Given the description of an element on the screen output the (x, y) to click on. 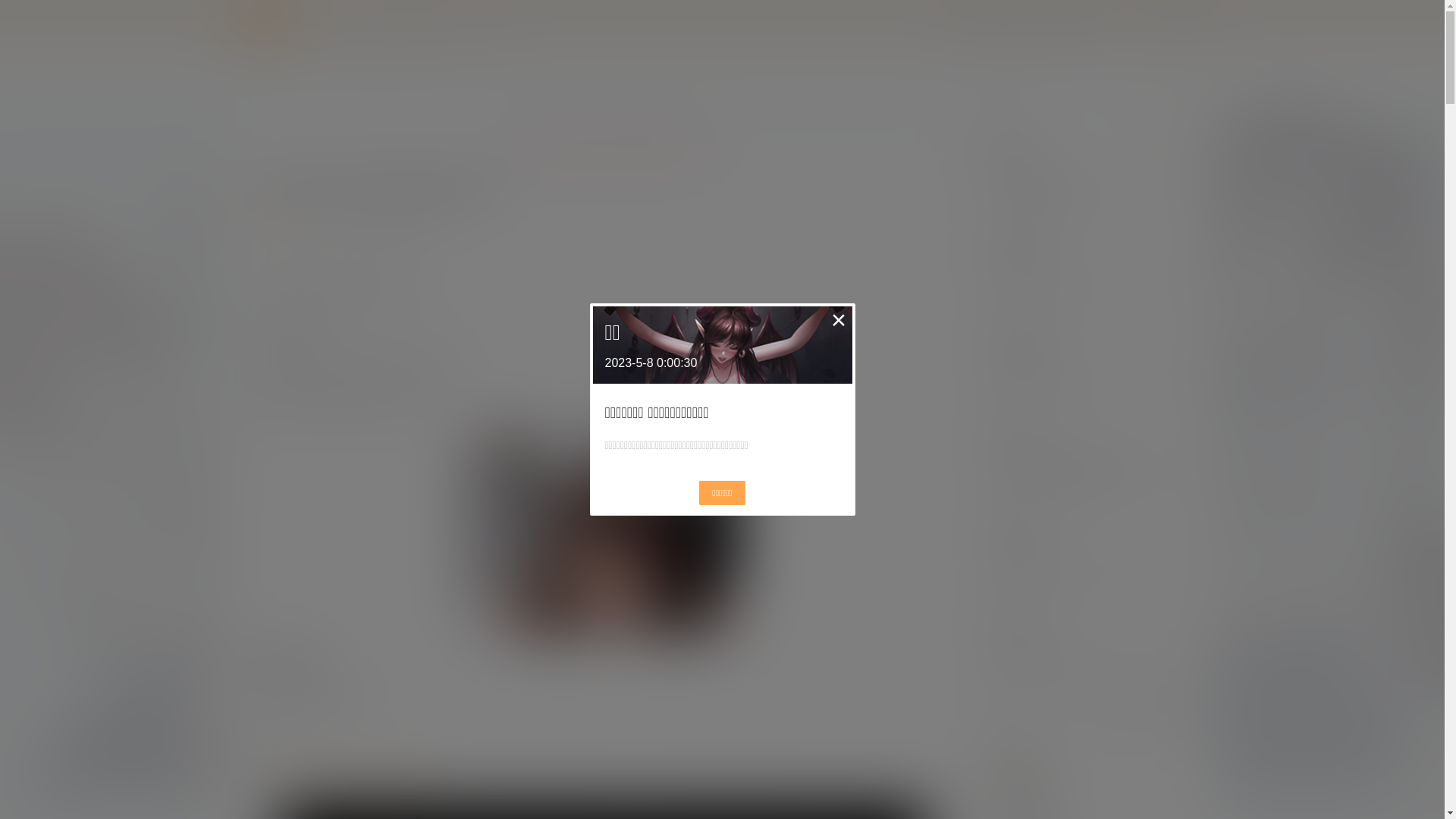
VIP Element type: text (412, 24)
ok Element type: text (10, 10)
https://lab.magiconch.com/magi Element type: text (353, 776)
